Given the description of an element on the screen output the (x, y) to click on. 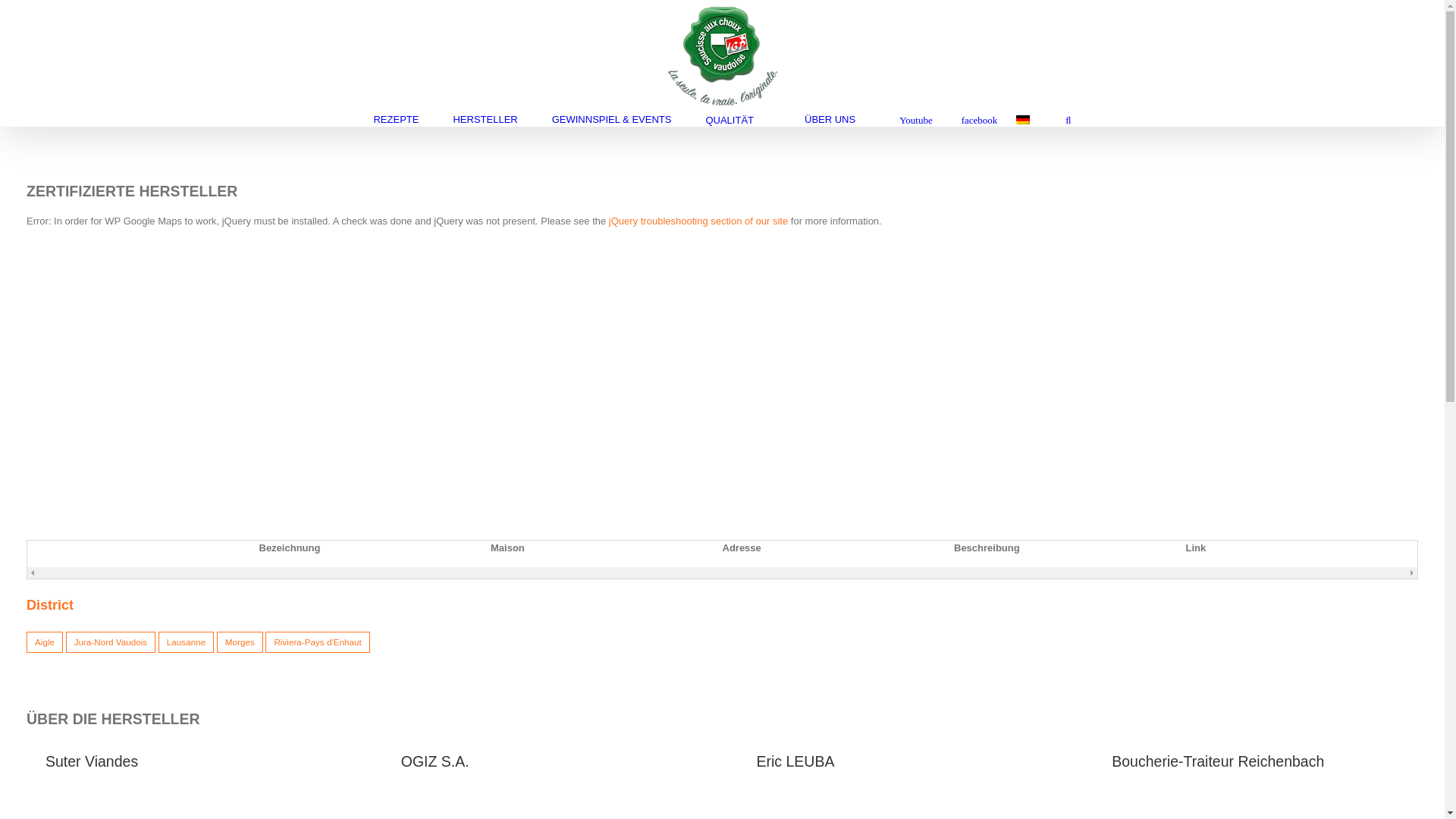
GEWINNSPIEL & EVENTS Element type: text (611, 119)
Suchen Element type: hover (1067, 119)
Youtube Element type: text (910, 119)
Aigle Element type: text (44, 641)
Suter Viandes Element type: text (91, 761)
Morges Element type: text (239, 641)
HERSTELLER Element type: text (484, 119)
Riviera-Pays d'Enhaut Element type: text (317, 641)
Lausanne Element type: text (185, 641)
REZEPTE Element type: text (395, 119)
Boucherie-Traiteur Reichenbach Element type: text (1217, 761)
Jura-Nord Vaudois Element type: text (110, 641)
OGIZ S.A. Element type: text (435, 761)
Eric LEUBA Element type: text (795, 761)
jQuery troubleshooting section of our site Element type: text (697, 220)
facebook Element type: text (974, 119)
